Given the description of an element on the screen output the (x, y) to click on. 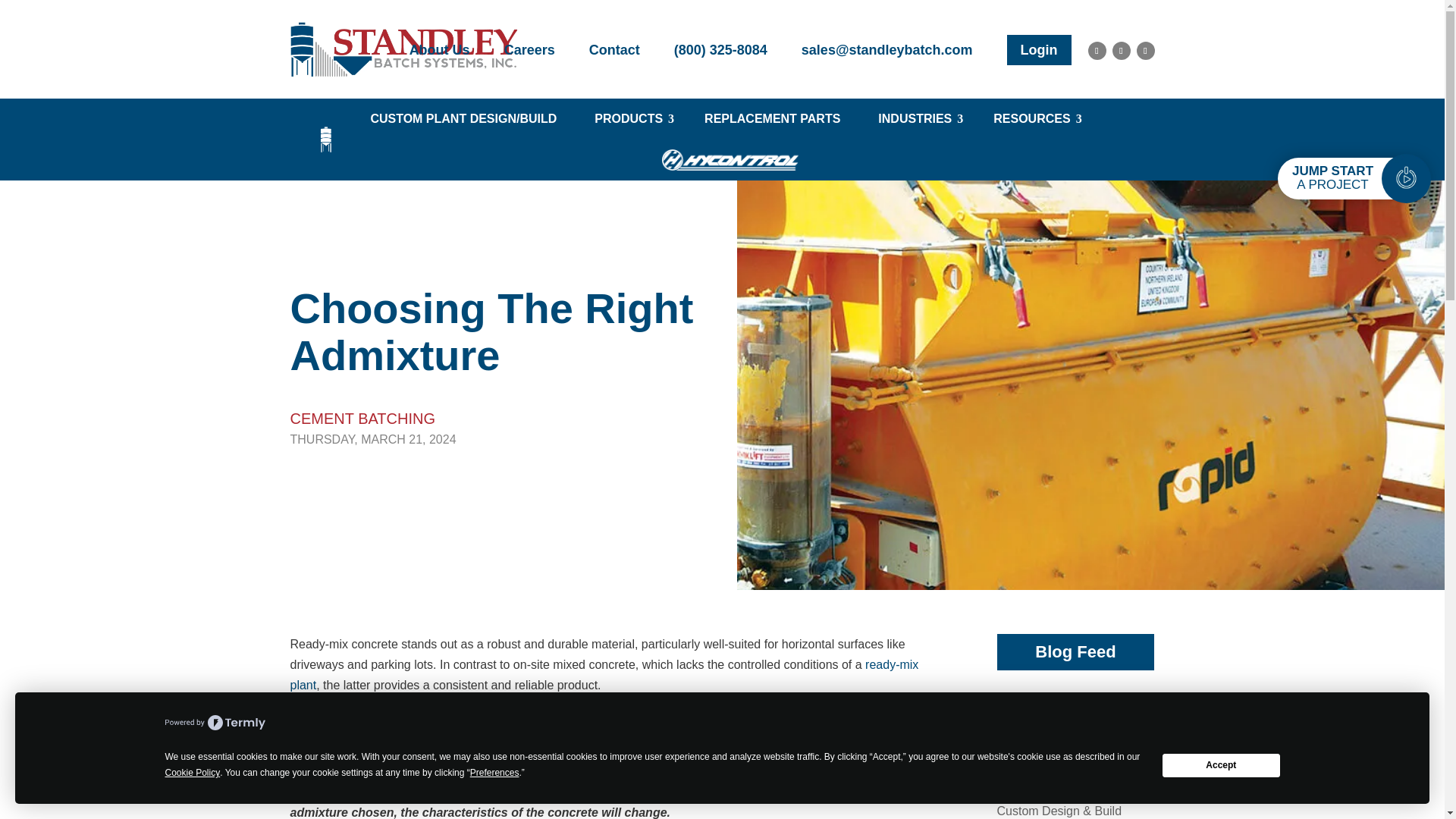
Contact (614, 49)
PRODUCTS (630, 118)
Follow on LinkedIn (1120, 50)
About Us (439, 49)
Accept (1220, 765)
Follow on Facebook (1096, 50)
Login (1039, 50)
Follow on Youtube (1144, 50)
logo-footer (402, 49)
Careers (528, 49)
